Given the description of an element on the screen output the (x, y) to click on. 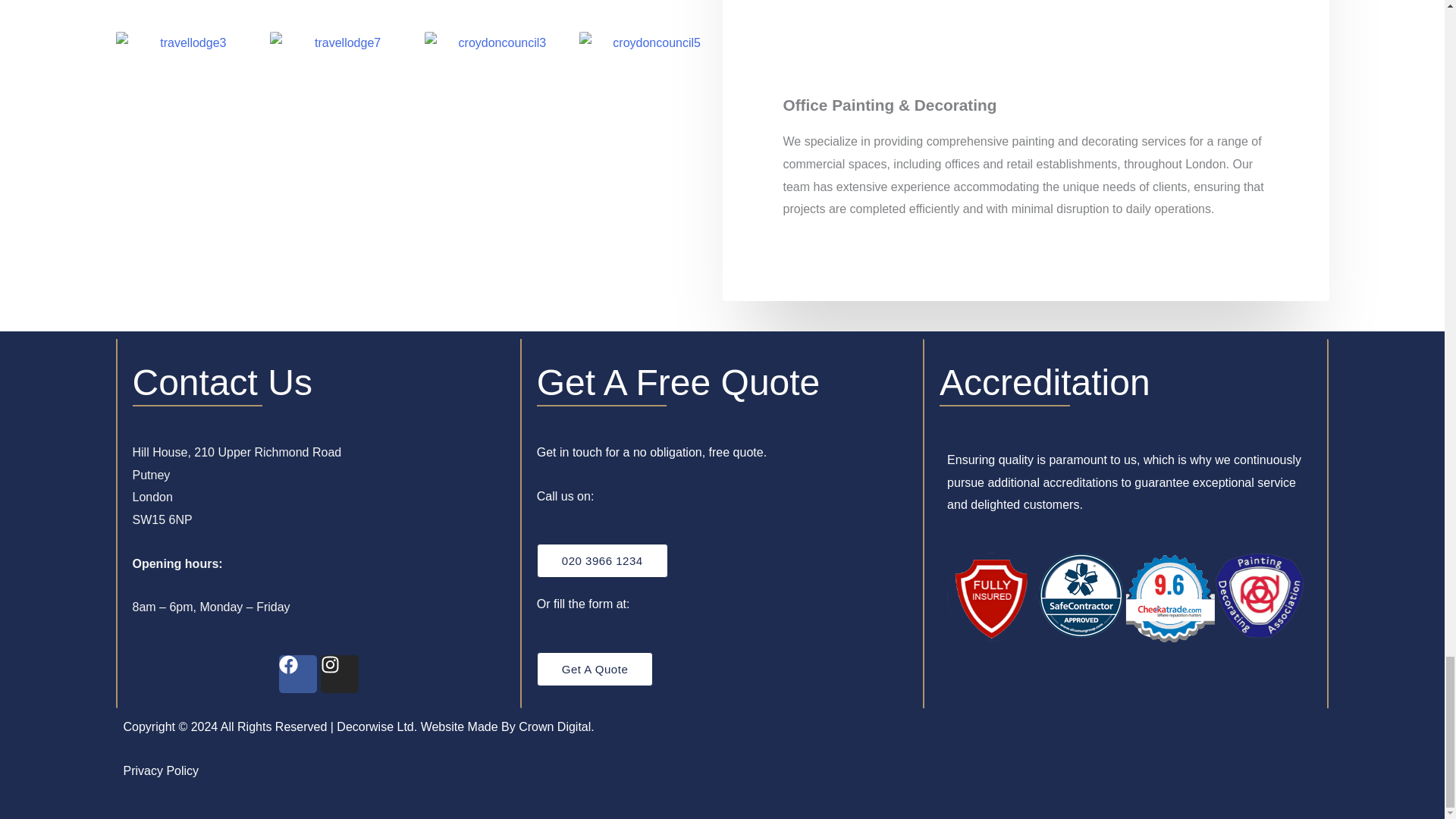
knightsbridgehotel2 (496, 10)
020 3966 1234 (602, 560)
officeEC1 Medium (650, 10)
croydoncouncil4 (187, 10)
croydoncouncil3 (496, 126)
Instagram (339, 673)
travellodge3 (187, 126)
Facebook (298, 673)
Get A Quote (594, 668)
Privacy Policy (160, 770)
croydoncouncil6 (341, 10)
travellodge7 (341, 126)
croydoncouncil5 (650, 126)
